Given the description of an element on the screen output the (x, y) to click on. 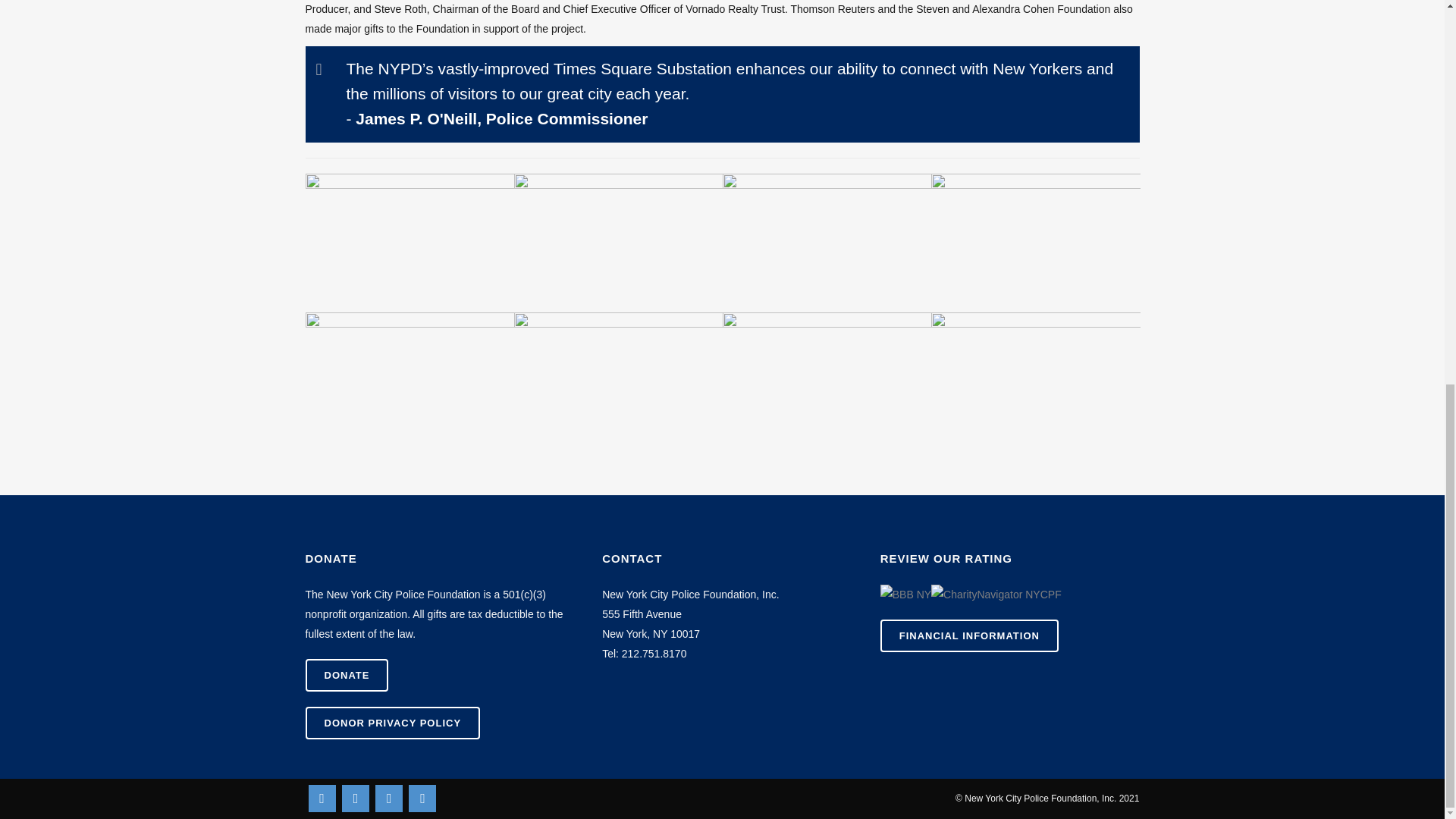
NYPD TimesSq 10 (1035, 242)
NYPD TimesSq 1 (408, 242)
NYPD TimesSq 6 (618, 382)
NYPD TimesSq 4 (408, 382)
NYPD TimesSq 7 (826, 382)
NYPD TimesSq 3 (826, 242)
NYPD TimesSq 9 (1035, 382)
NYPD TimesSq 2 (618, 242)
